Given the description of an element on the screen output the (x, y) to click on. 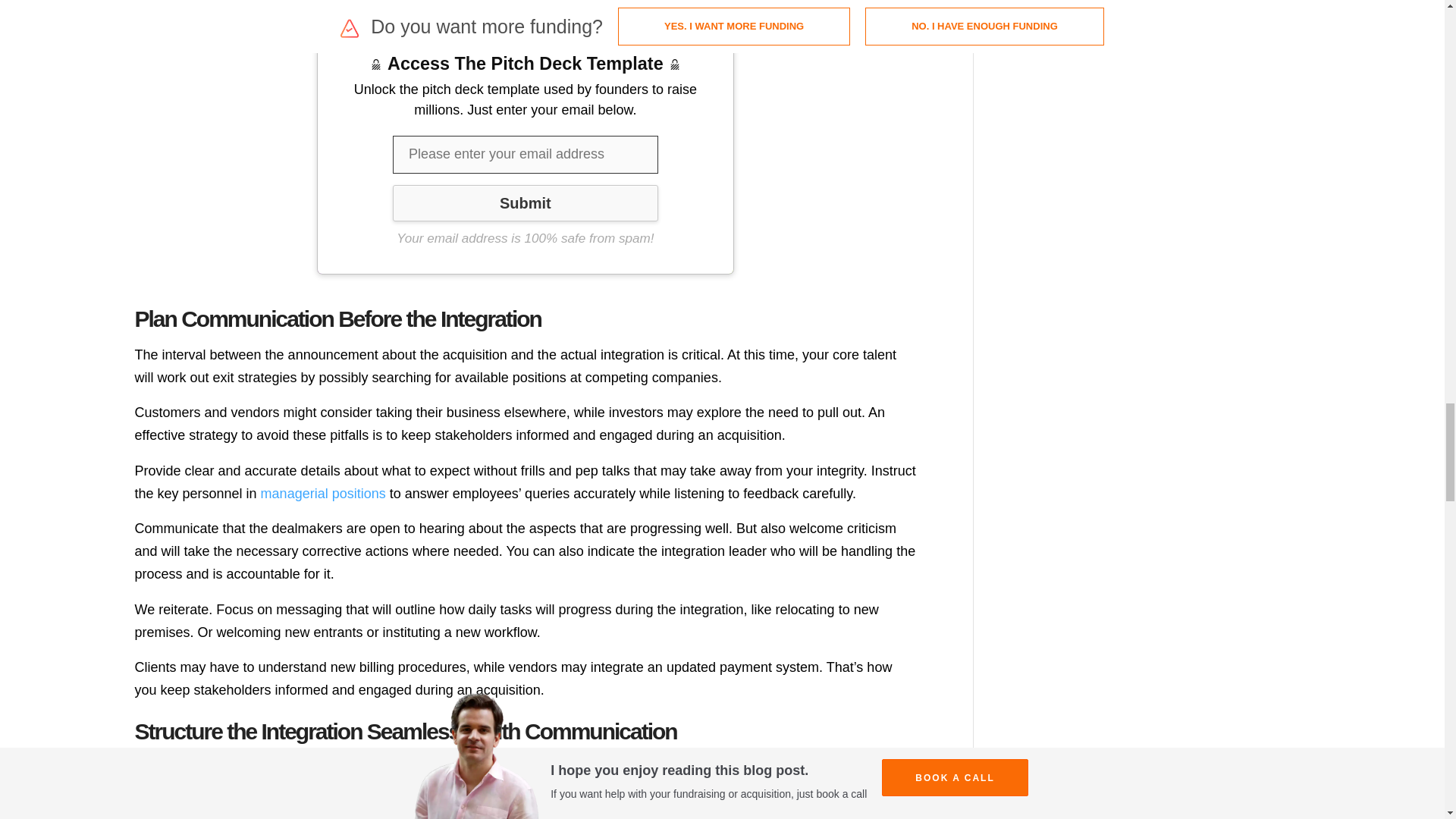
Submit (525, 203)
